Given the description of an element on the screen output the (x, y) to click on. 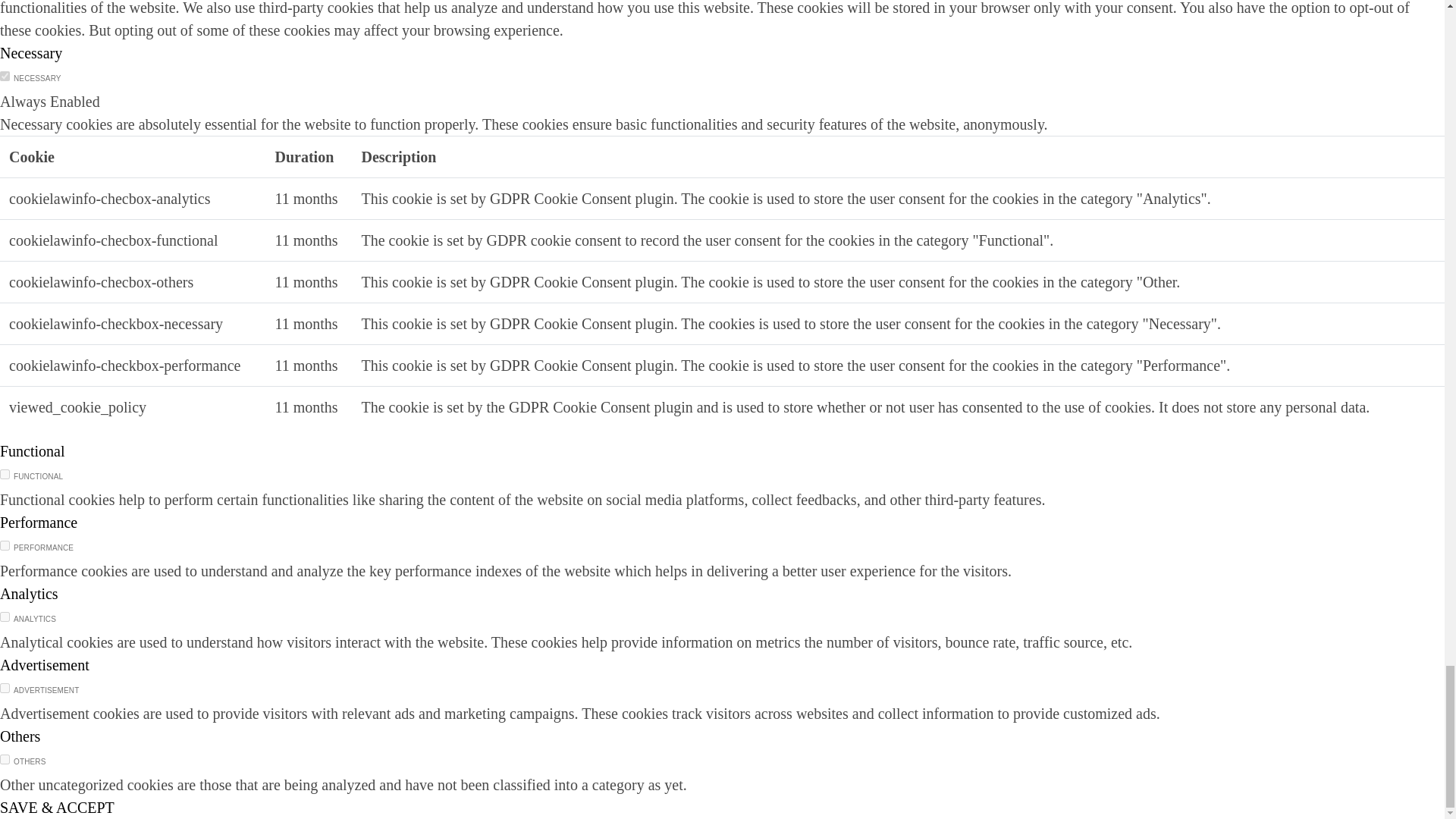
on (5, 76)
on (5, 759)
on (5, 545)
on (5, 616)
on (5, 687)
on (5, 474)
